Given the description of an element on the screen output the (x, y) to click on. 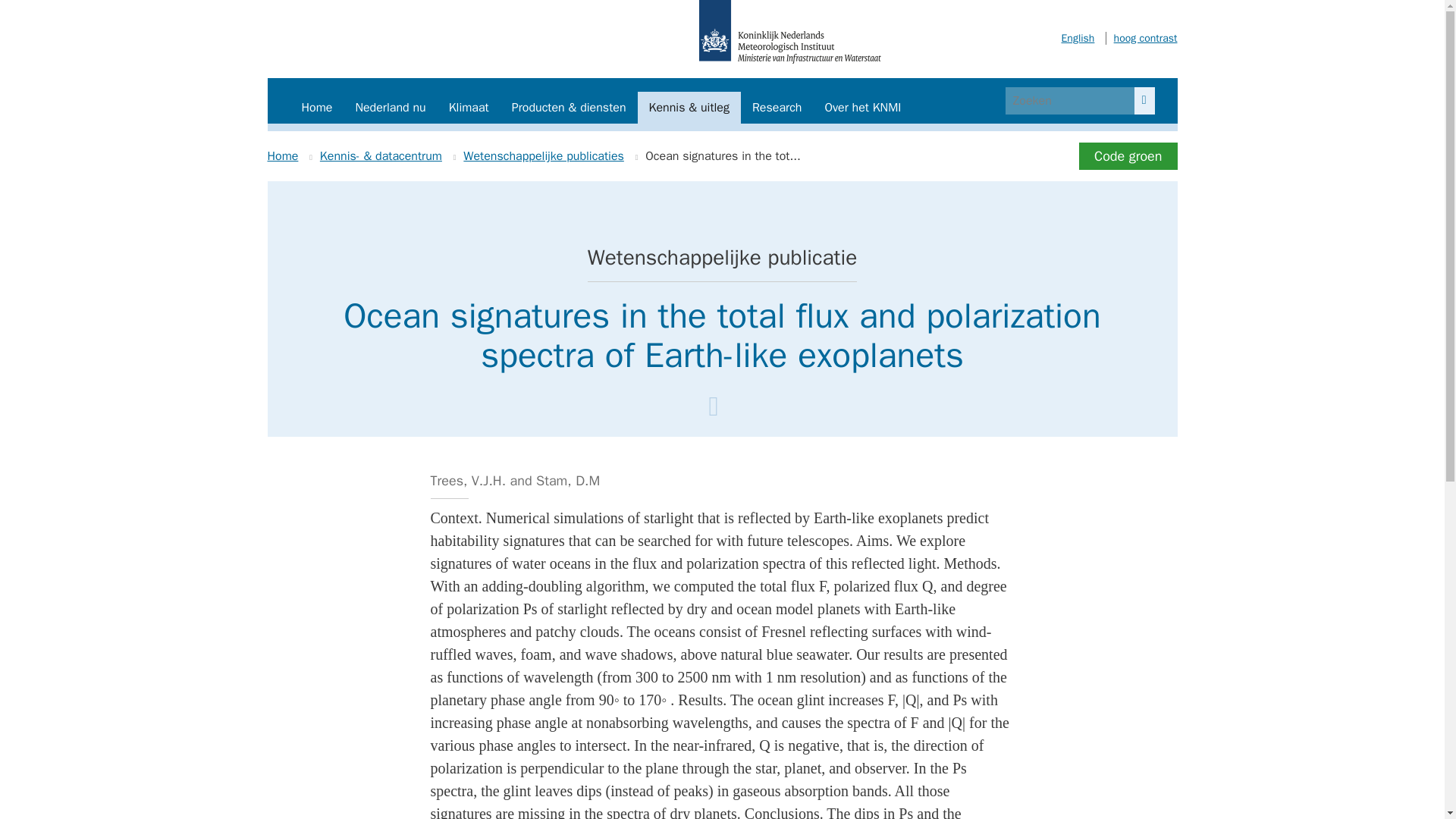
Over het KNMI (862, 107)
Klimaat (469, 107)
hoog contrast (1141, 38)
Nederland nu (389, 107)
Home (316, 107)
English (1077, 38)
Research (777, 107)
